Given the description of an element on the screen output the (x, y) to click on. 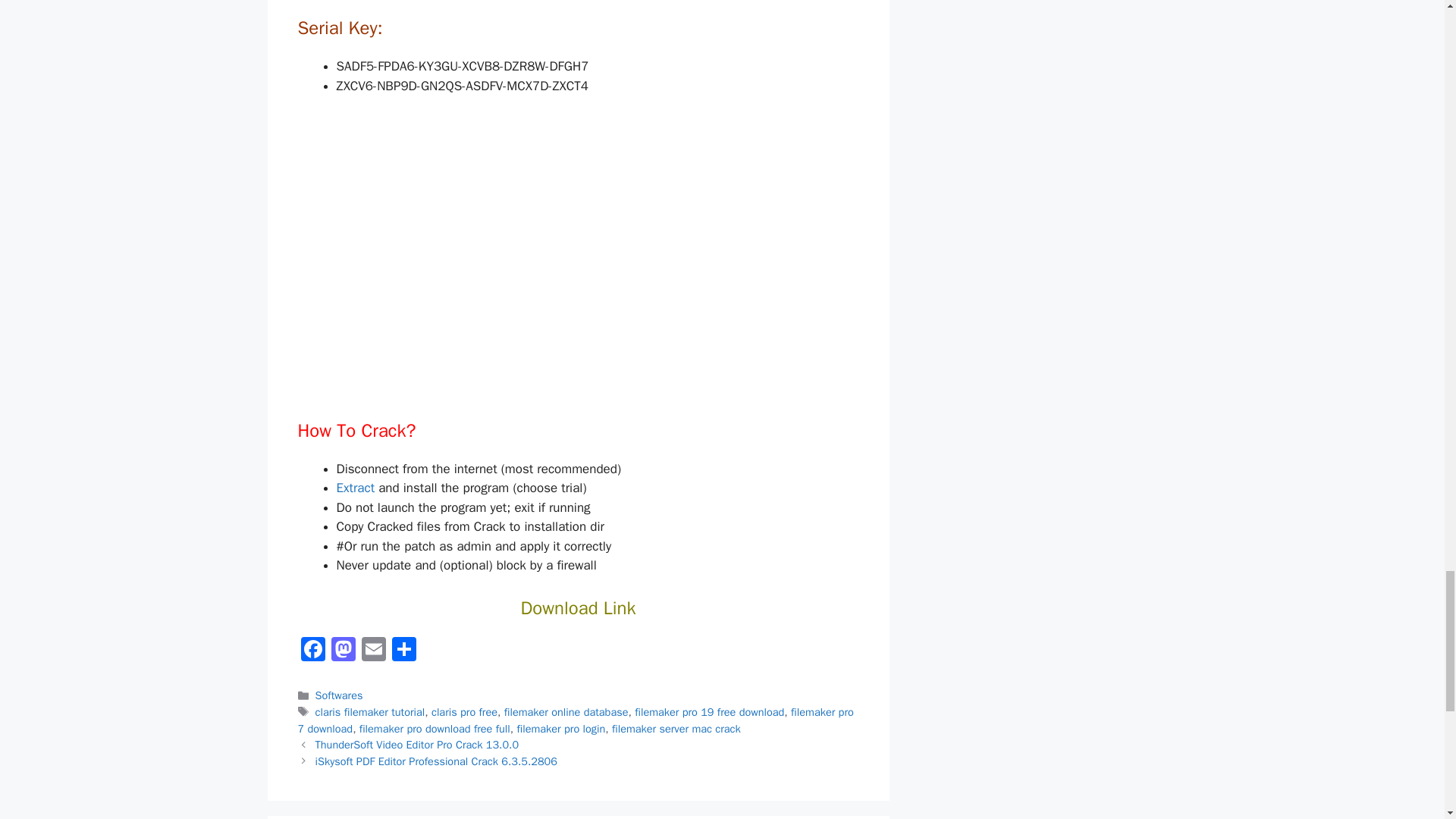
filemaker pro download free full (435, 728)
Next (436, 761)
claris pro free (463, 712)
Mastodon (342, 651)
ThunderSoft Video Editor Pro Crack 13.0.0 (416, 744)
Previous (416, 744)
iSkysoft PDF Editor Professional Crack 6.3.5.2806 (436, 761)
Download Link (578, 608)
filemaker pro 7 download (575, 720)
